Given the description of an element on the screen output the (x, y) to click on. 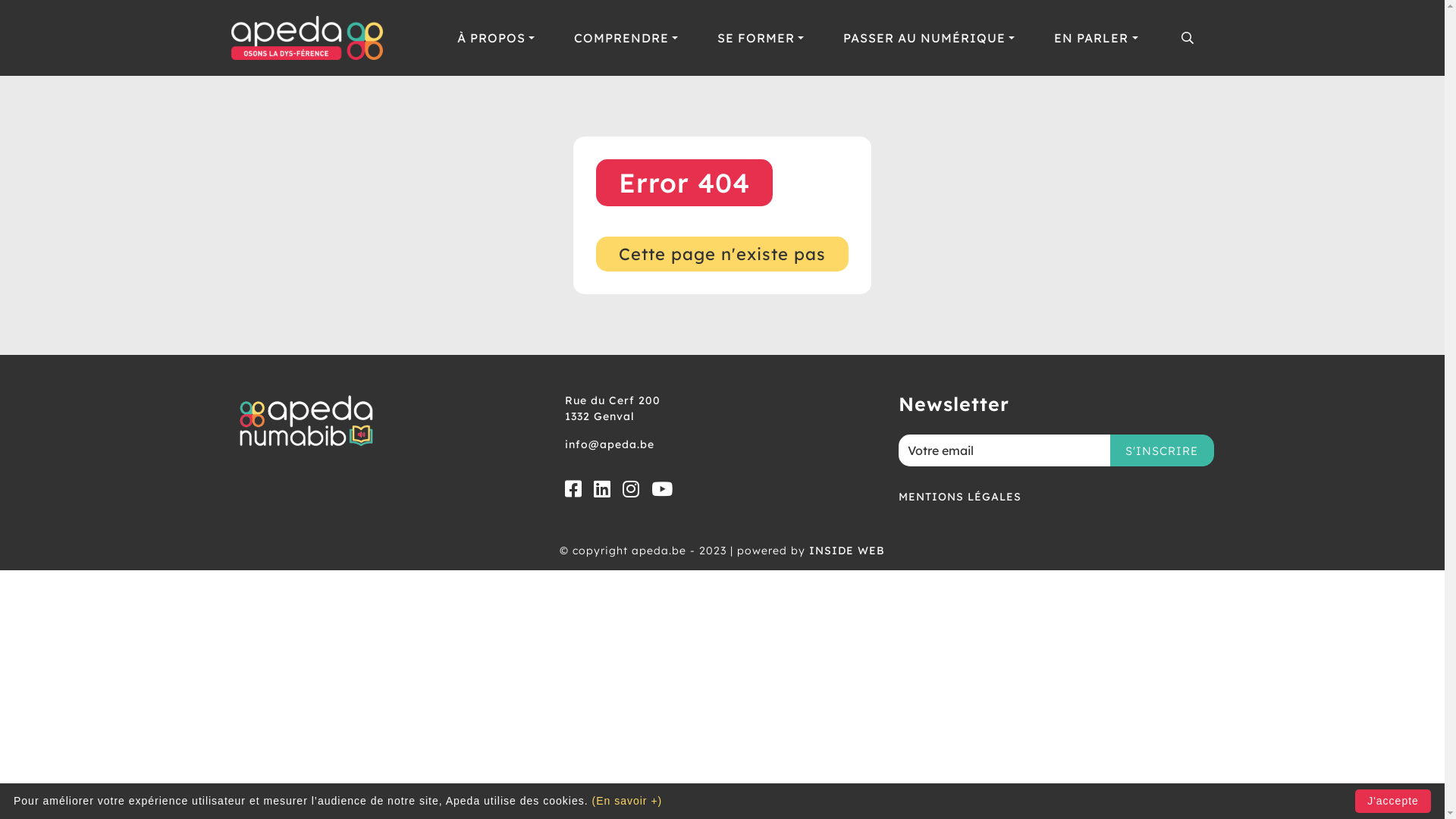
(En savoir +) Element type: text (626, 800)
INSIDE WEB Element type: text (846, 550)
Rue du Cerf 200
1332 Genval Element type: text (721, 410)
info@apeda.be Element type: text (721, 446)
S'INSCRIRE Element type: text (1160, 450)
SE FORMER Element type: text (760, 37)
COMPRENDRE Element type: text (625, 37)
EN PARLER Element type: text (1095, 37)
